Given the description of an element on the screen output the (x, y) to click on. 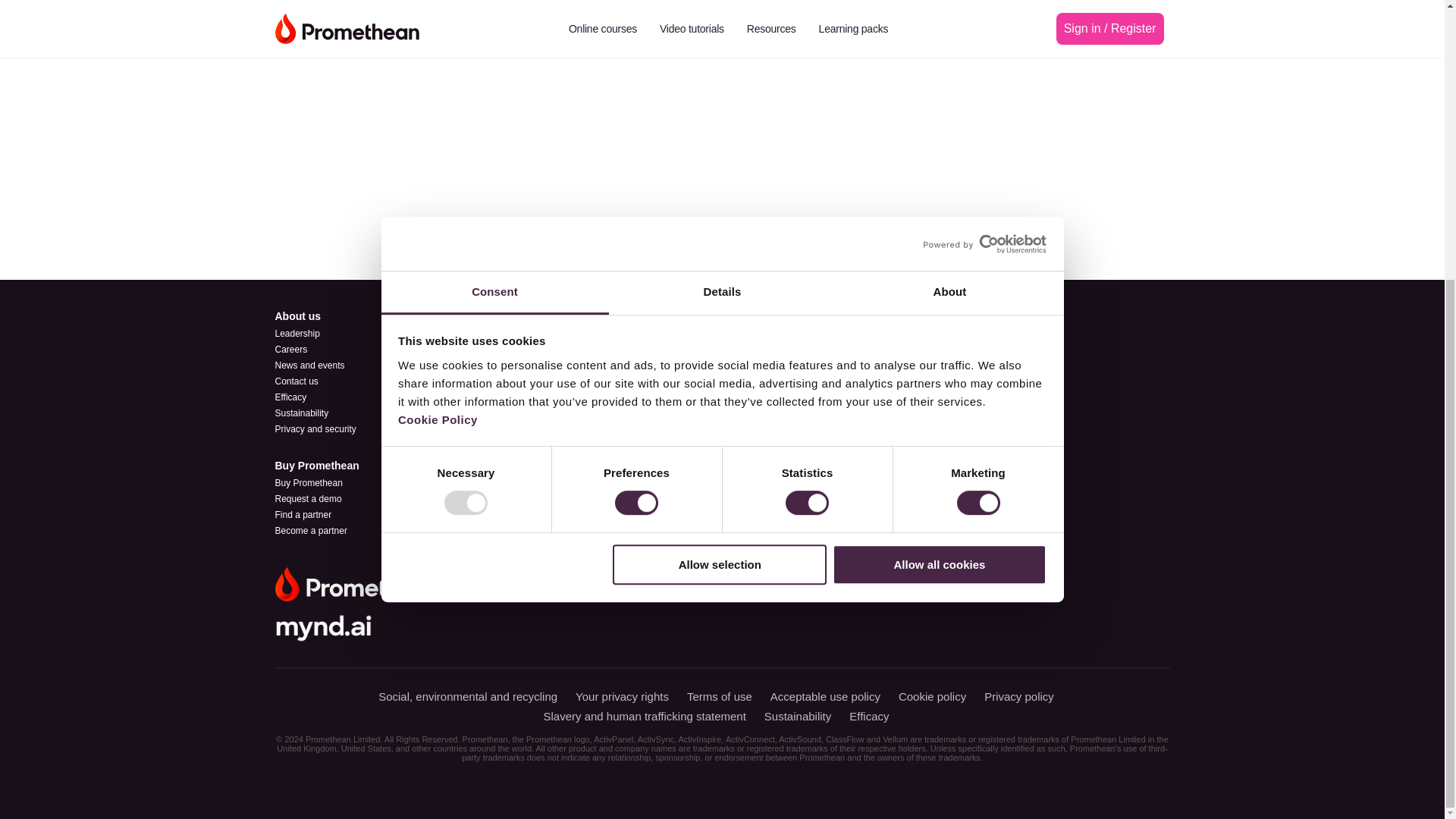
Cookie Policy (437, 4)
